Given the description of an element on the screen output the (x, y) to click on. 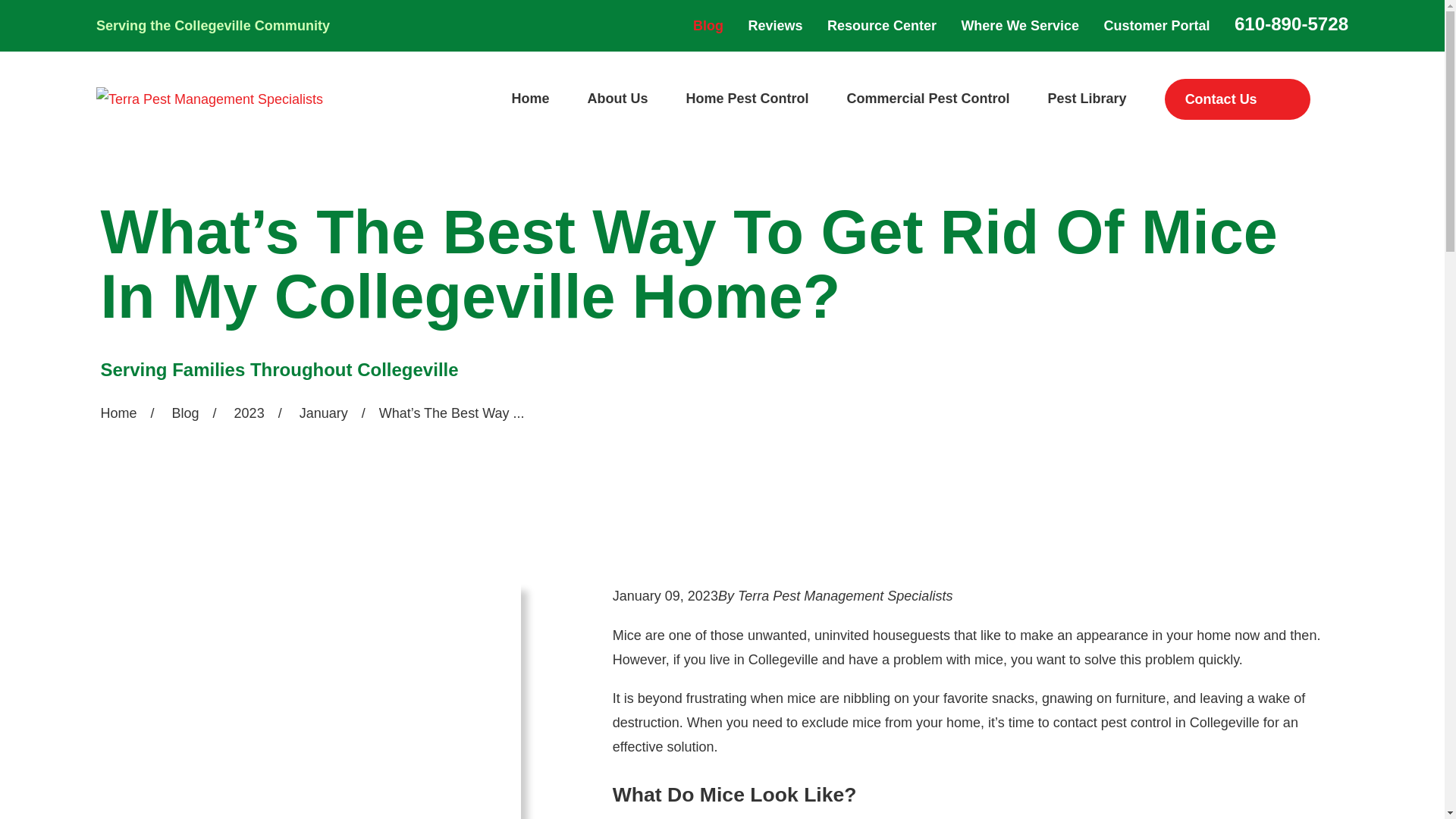
Reviews (775, 25)
Home Pest Control (746, 99)
Resource Center (881, 25)
Commercial Pest Control (928, 99)
Where We Service (1019, 25)
Blog (708, 25)
Home (209, 98)
Go Home (118, 412)
About Us (616, 99)
610-890-5728 (1291, 23)
